Given the description of an element on the screen output the (x, y) to click on. 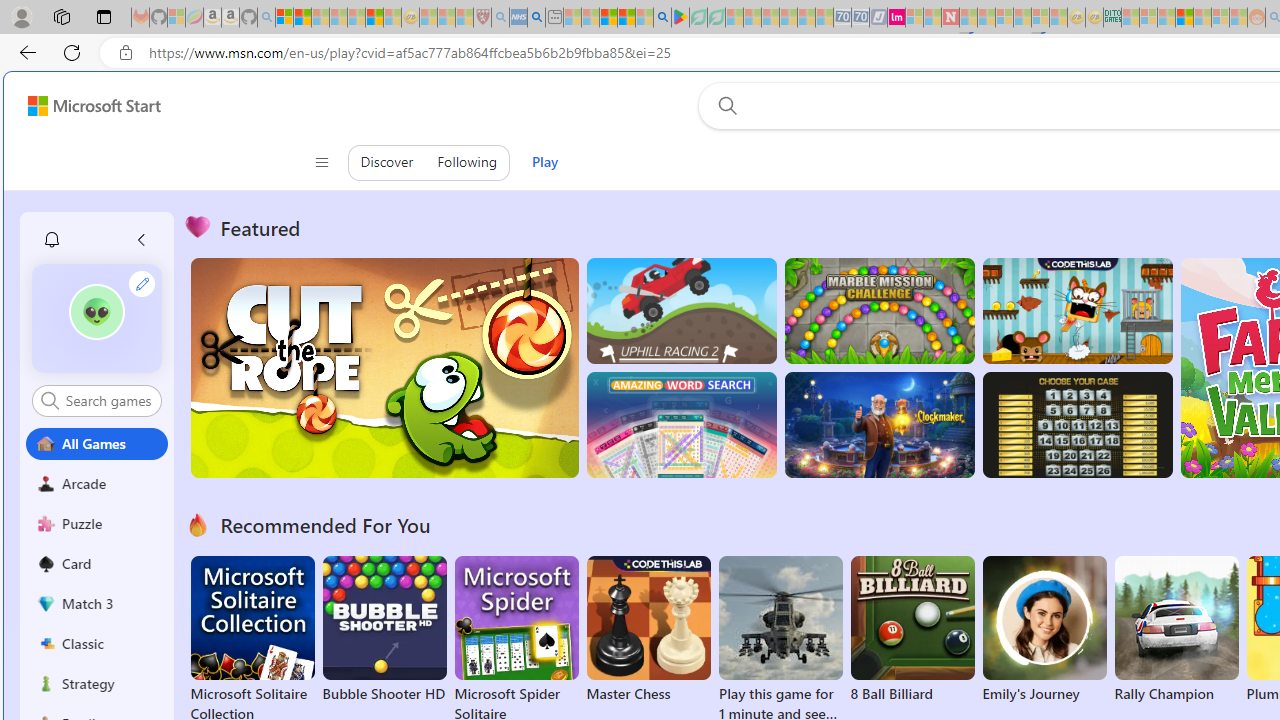
Latest Politics News & Archive | Newsweek.com - Sleeping (950, 17)
AutomationID: control (108, 400)
Rally Champion (1176, 629)
Terms of Use Agreement - Sleeping (697, 17)
Class: search-icon (50, 400)
